Given the description of an element on the screen output the (x, y) to click on. 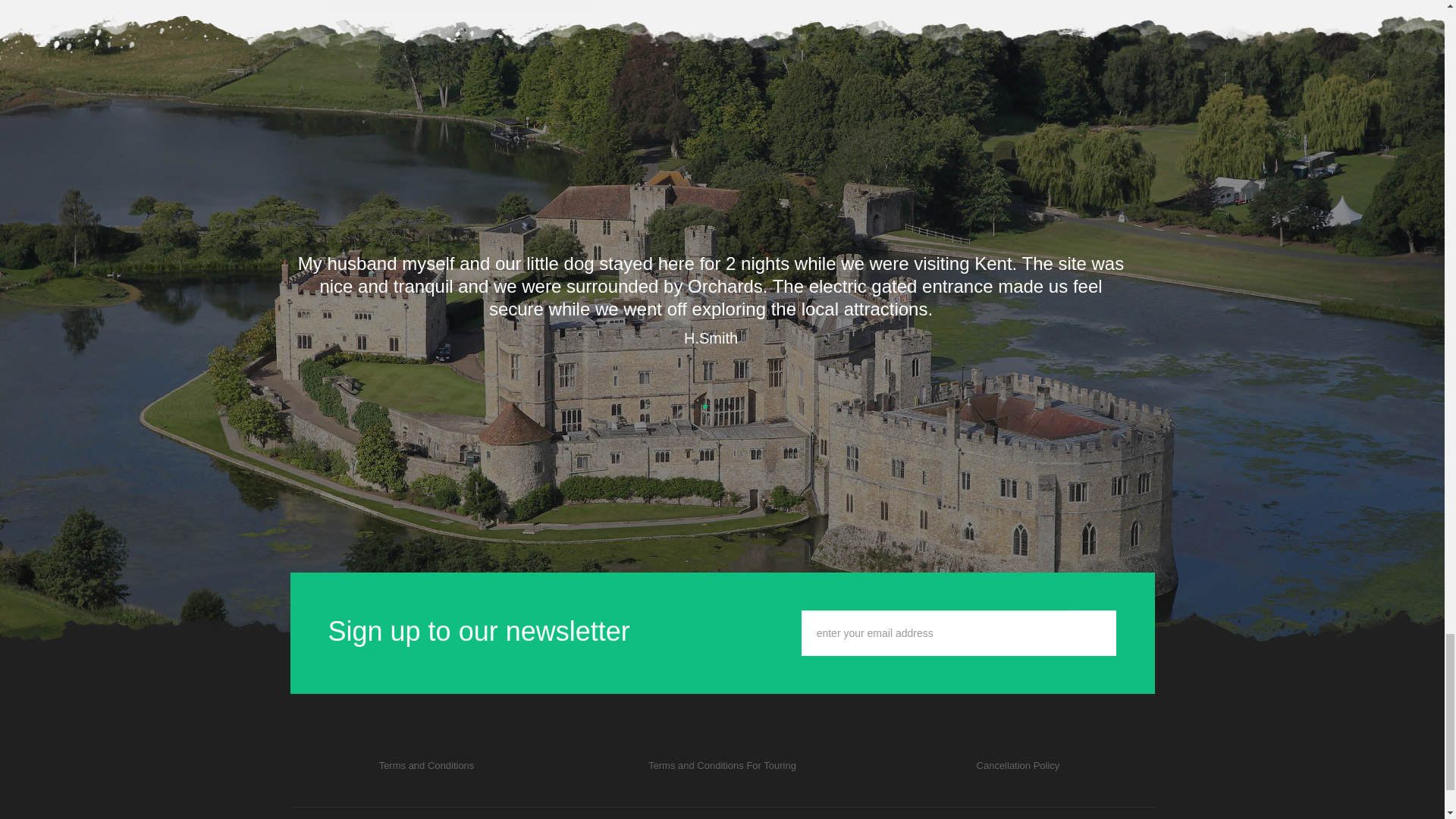
Terms and Conditions (1017, 765)
2 (704, 406)
Terms and Conditions (426, 765)
Terms and Conditions (426, 765)
Terms and Conditions For Touring (721, 765)
Terms and Conditions (721, 765)
1 (692, 406)
4 (729, 406)
3 (717, 406)
Cancellation Policy (1017, 765)
